Given the description of an element on the screen output the (x, y) to click on. 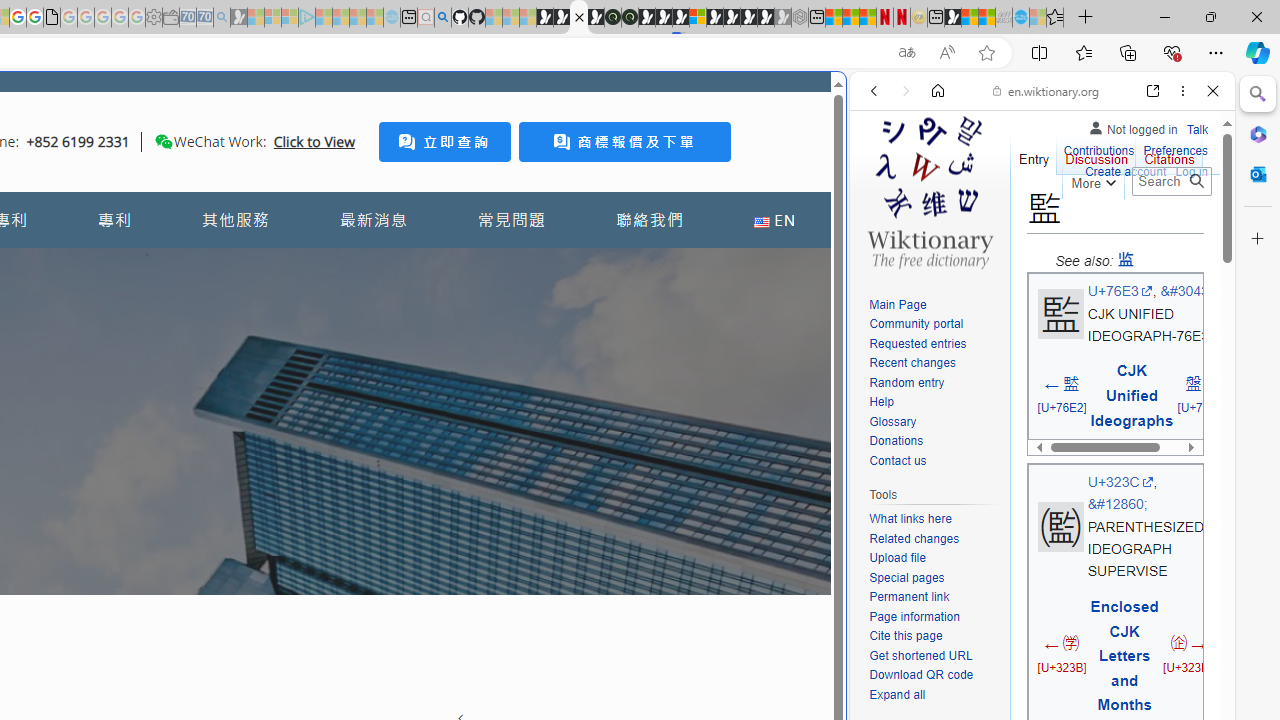
Upload file (934, 558)
Page information (914, 616)
Entry (1034, 154)
Permanent link (934, 597)
Download QR code (921, 675)
Services - Maintenance | Sky Blue Bikes - Sky Blue Bikes (1020, 17)
